Given the description of an element on the screen output the (x, y) to click on. 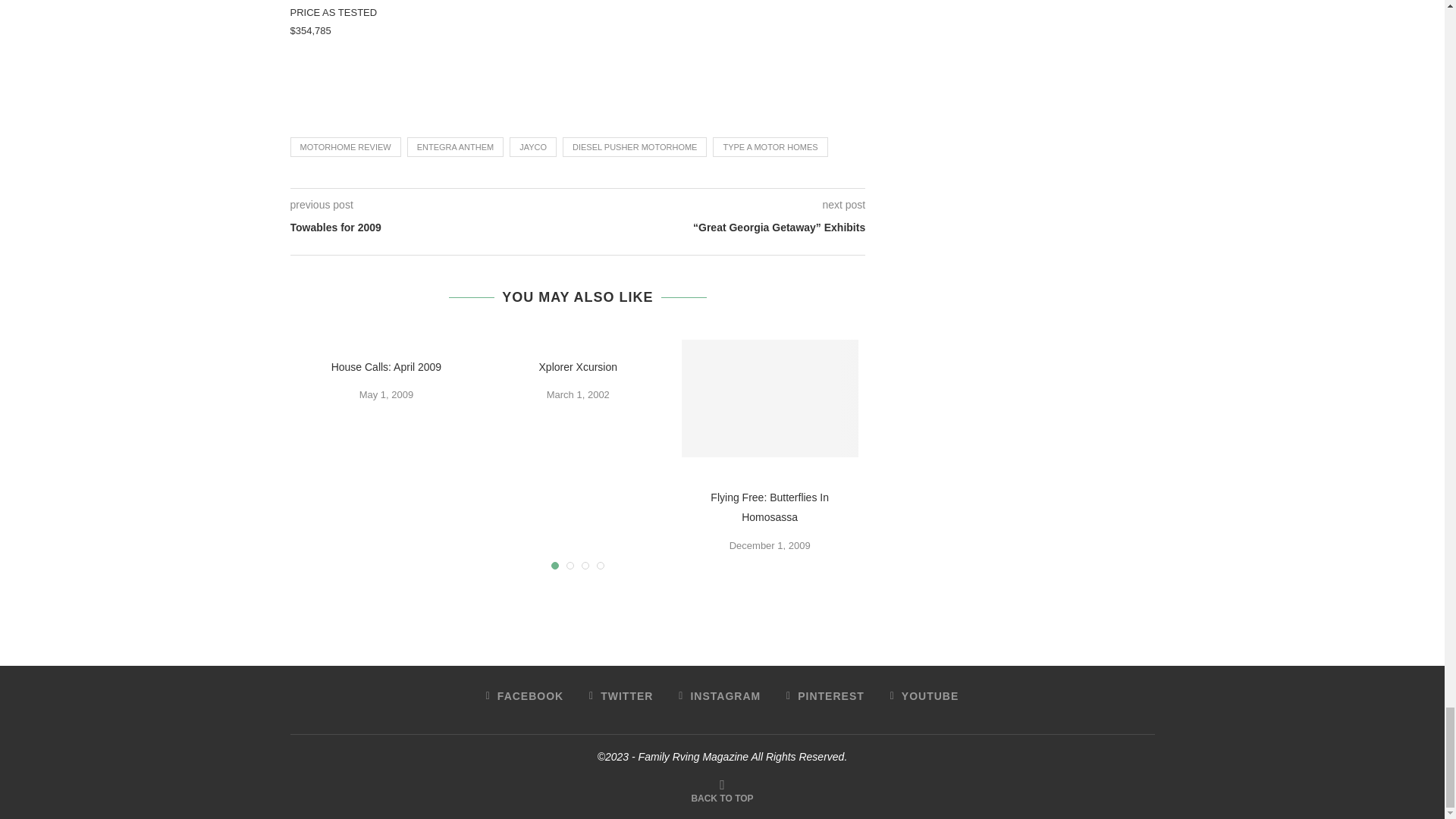
Xplorer Xcursion (577, 367)
MOTORHOME REVIEW (344, 147)
JAYCO (532, 147)
House Calls: April 2009 (386, 367)
DIESEL PUSHER MOTORHOME (634, 147)
Flying Free: Butterflies In Homosassa (770, 398)
ENTEGRA ANTHEM (455, 147)
Towables for 2009 (432, 227)
Flying Free: Butterflies In Homosassa (769, 507)
TYPE A MOTOR HOMES (770, 147)
